Given the description of an element on the screen output the (x, y) to click on. 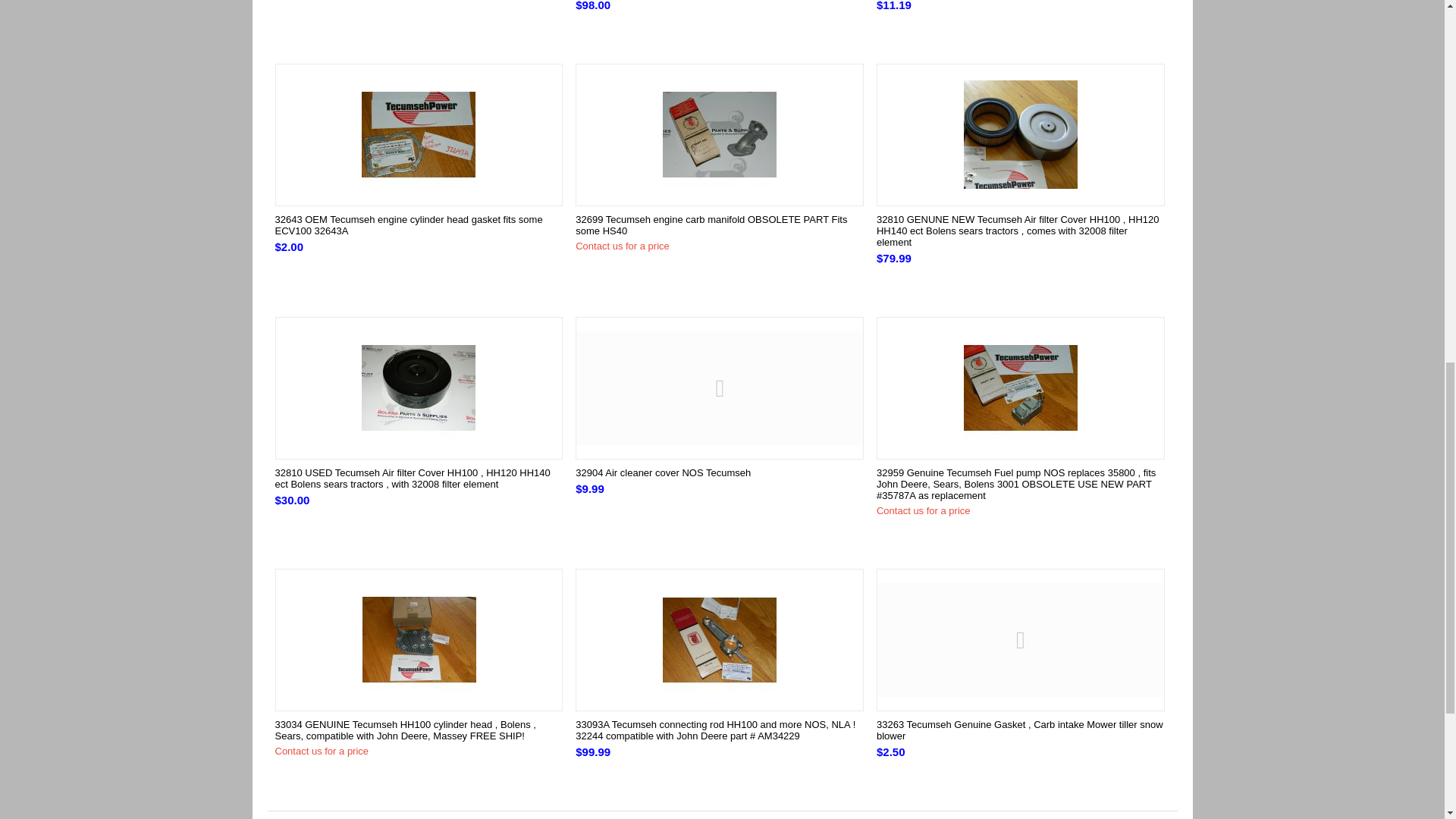
No image (719, 387)
